Given the description of an element on the screen output the (x, y) to click on. 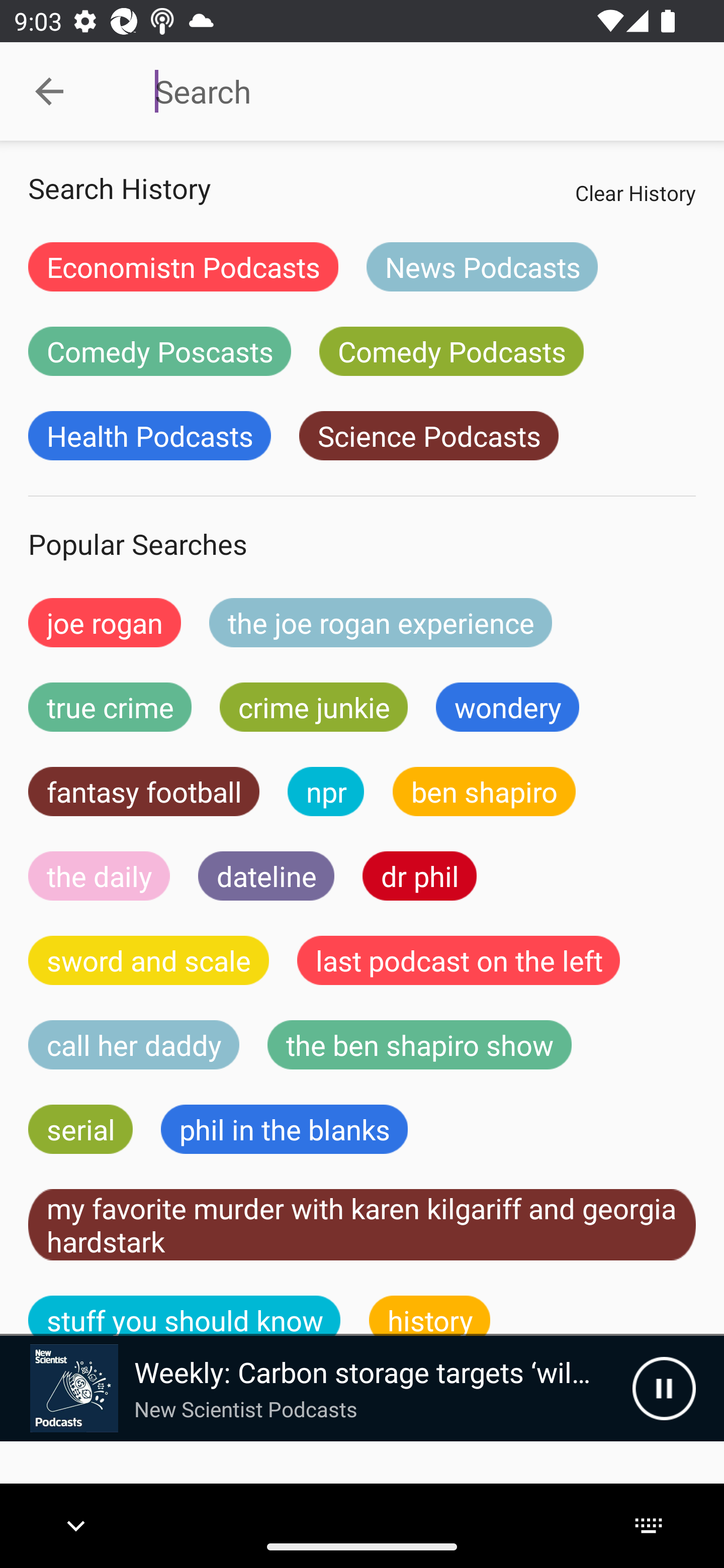
Collapse (49, 91)
Search (407, 91)
Clear History (634, 192)
Economistn Podcasts (183, 266)
News Podcasts (482, 266)
Comedy Poscasts (159, 351)
Comedy Podcasts (451, 351)
Health Podcasts (149, 435)
Science Podcasts (428, 435)
joe rogan (104, 622)
the joe rogan experience (380, 622)
true crime (109, 707)
crime junkie (313, 707)
wondery (507, 707)
fantasy football (143, 791)
npr (325, 791)
ben shapiro (483, 791)
the daily (99, 875)
dateline (266, 875)
dr phil (419, 875)
sword and scale (148, 960)
last podcast on the left (458, 960)
call her daddy (133, 1044)
the ben shapiro show (419, 1044)
serial (80, 1128)
phil in the blanks (283, 1128)
stuff you should know (184, 1315)
history (429, 1315)
Pause (663, 1388)
